Given the description of an element on the screen output the (x, y) to click on. 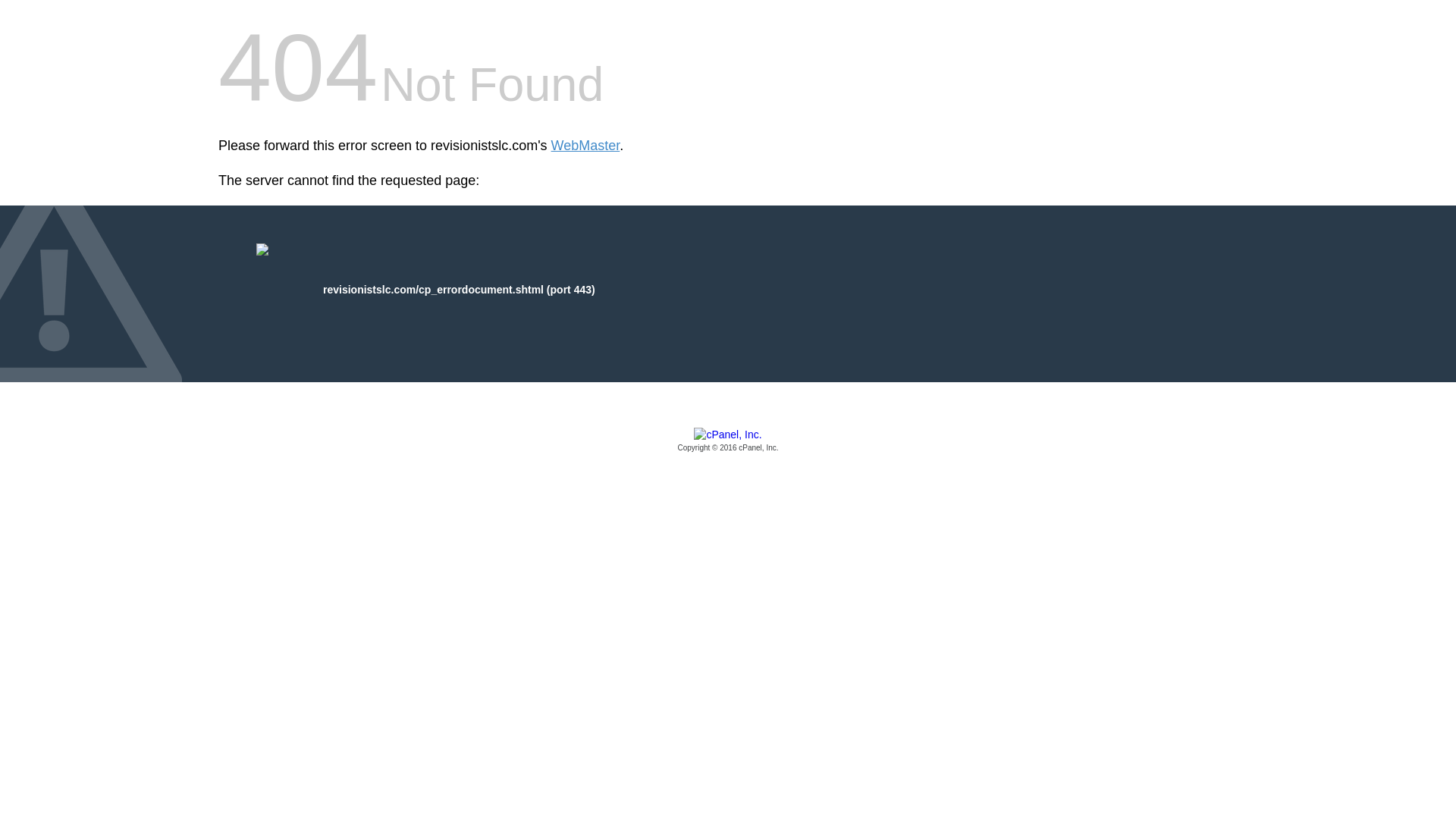
cPanel, Inc. (727, 440)
WebMaster (585, 145)
